Given the description of an element on the screen output the (x, y) to click on. 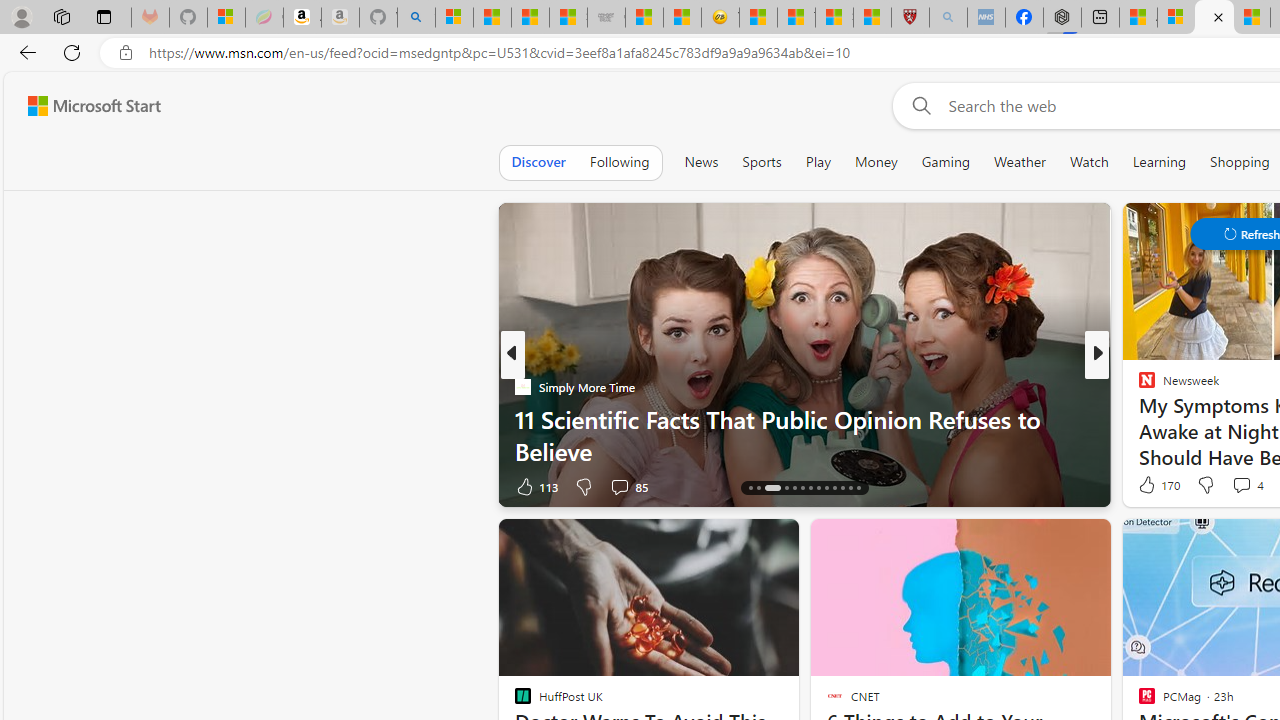
Kinda Frugal (1138, 418)
View comments 34 Comment (1234, 485)
AutomationID: tab-15 (757, 487)
View comments 11 Comment (1244, 486)
View comments 42 Comment (1244, 486)
View comments 4 Comment (1241, 485)
Simply More Time (522, 386)
AutomationID: tab-14 (750, 487)
View comments 18 Comment (1234, 485)
28 Like (1149, 486)
